Given the description of an element on the screen output the (x, y) to click on. 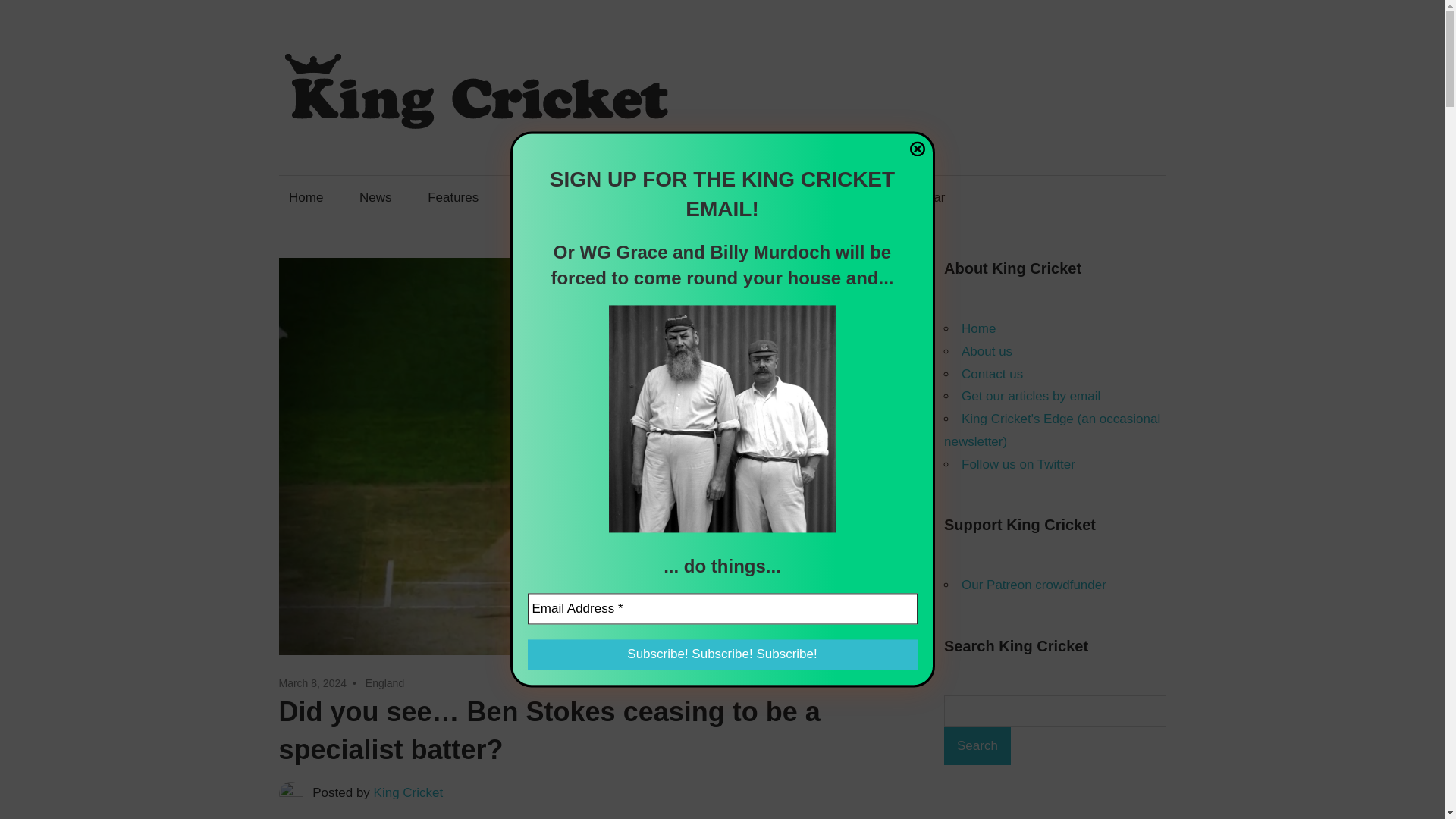
The 2024 King Cricket Essentials Calendar (821, 196)
News (375, 196)
Contact us (631, 196)
Search (976, 745)
12:43 pm (313, 683)
Yay! (628, 458)
March 8, 2024 (313, 683)
Features (453, 196)
Cookie Policy (689, 491)
Subscribe! Subscribe! Subscribe! (722, 654)
